Given the description of an element on the screen output the (x, y) to click on. 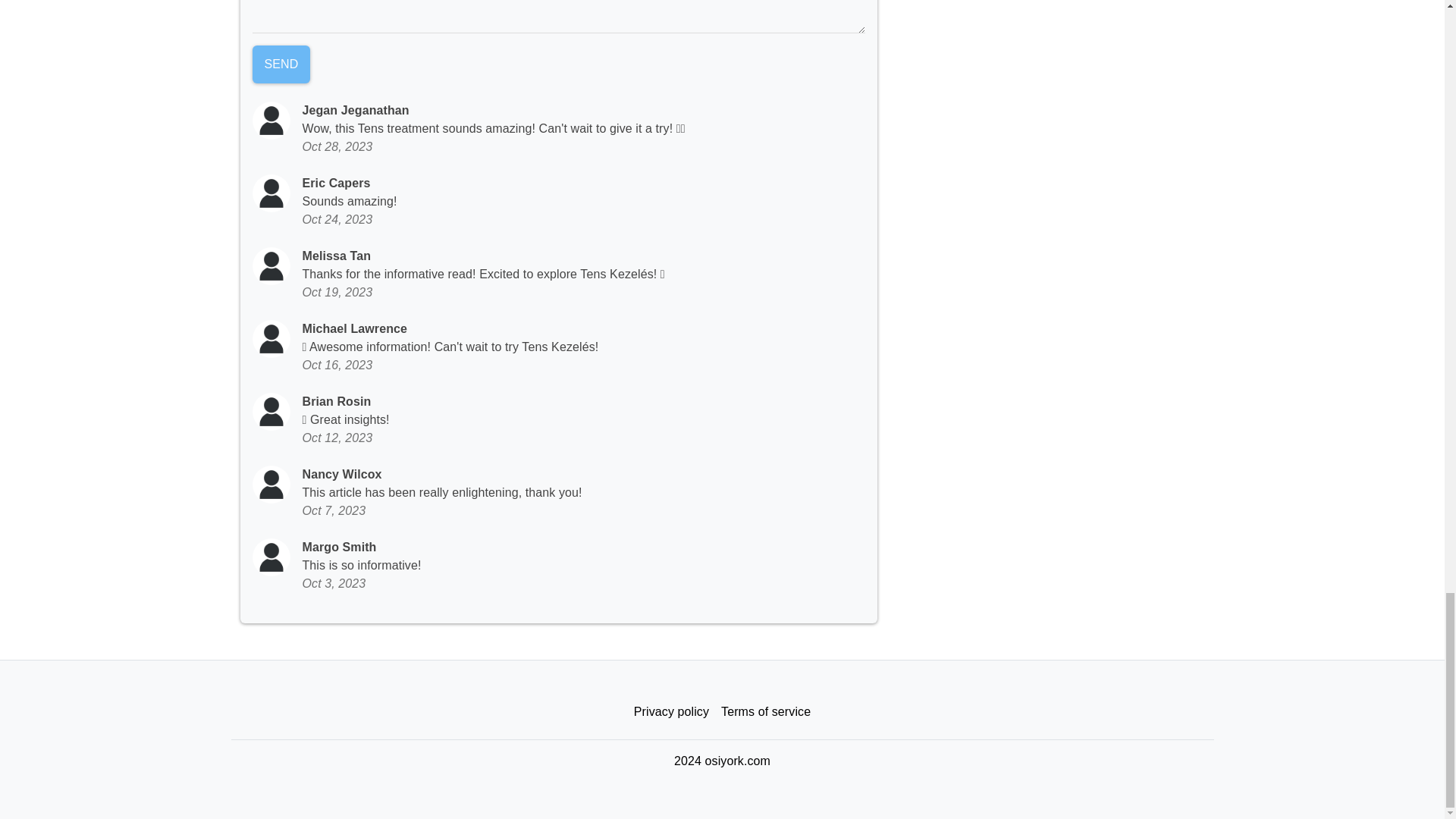
Terms of service (765, 711)
Privacy policy (670, 711)
Send (280, 64)
Send (280, 64)
